Given the description of an element on the screen output the (x, y) to click on. 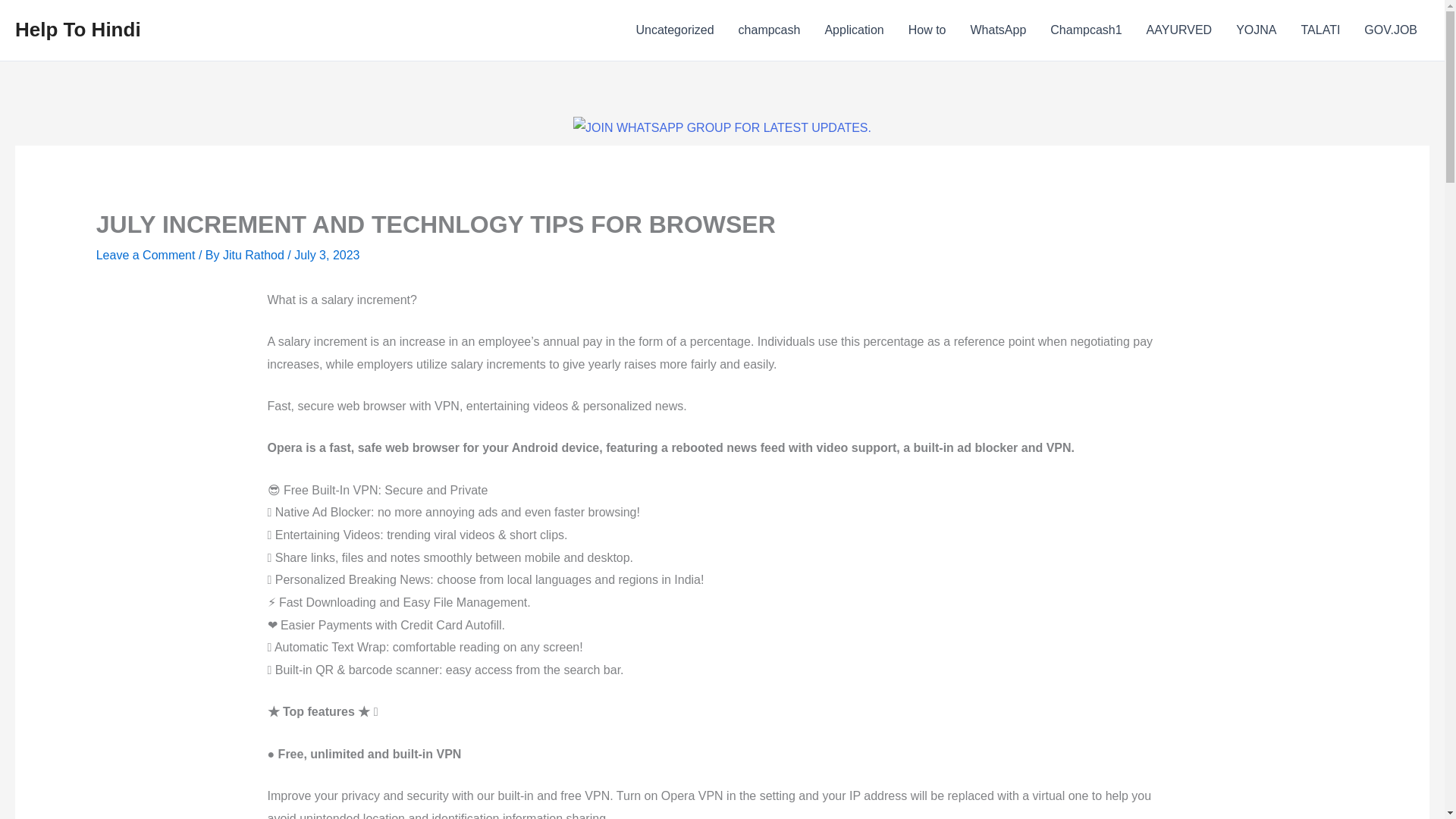
Uncategorized (674, 30)
AAYURVED (1179, 30)
Champcash1 (1086, 30)
Application (853, 30)
GOV.JOB (1390, 30)
WhatsApp (998, 30)
Help To Hindi (77, 29)
YOJNA (1256, 30)
TALATI (1320, 30)
View all posts by Jitu Rathod (254, 254)
